Given the description of an element on the screen output the (x, y) to click on. 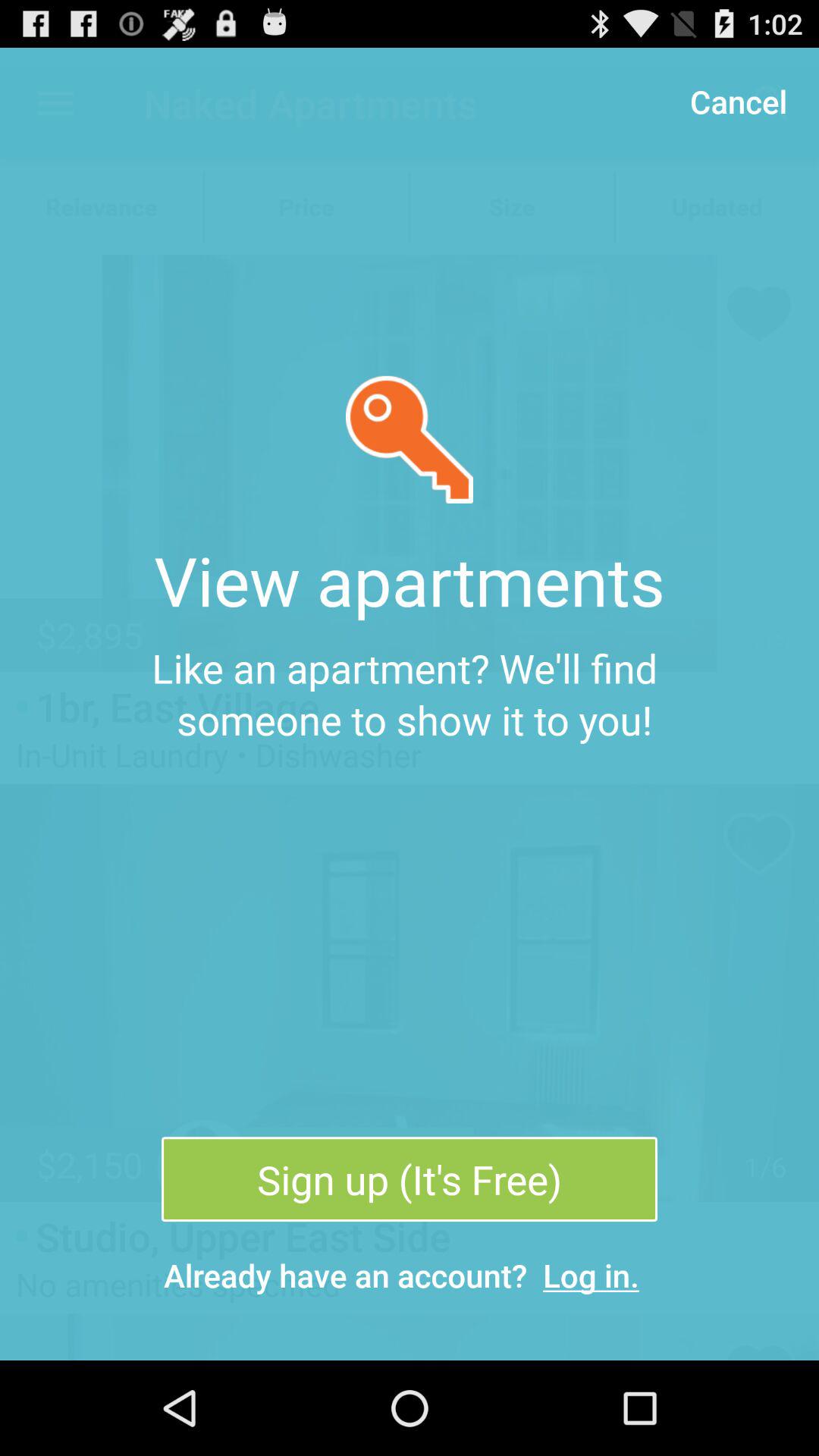
flip until the log in. (591, 1274)
